Given the description of an element on the screen output the (x, y) to click on. 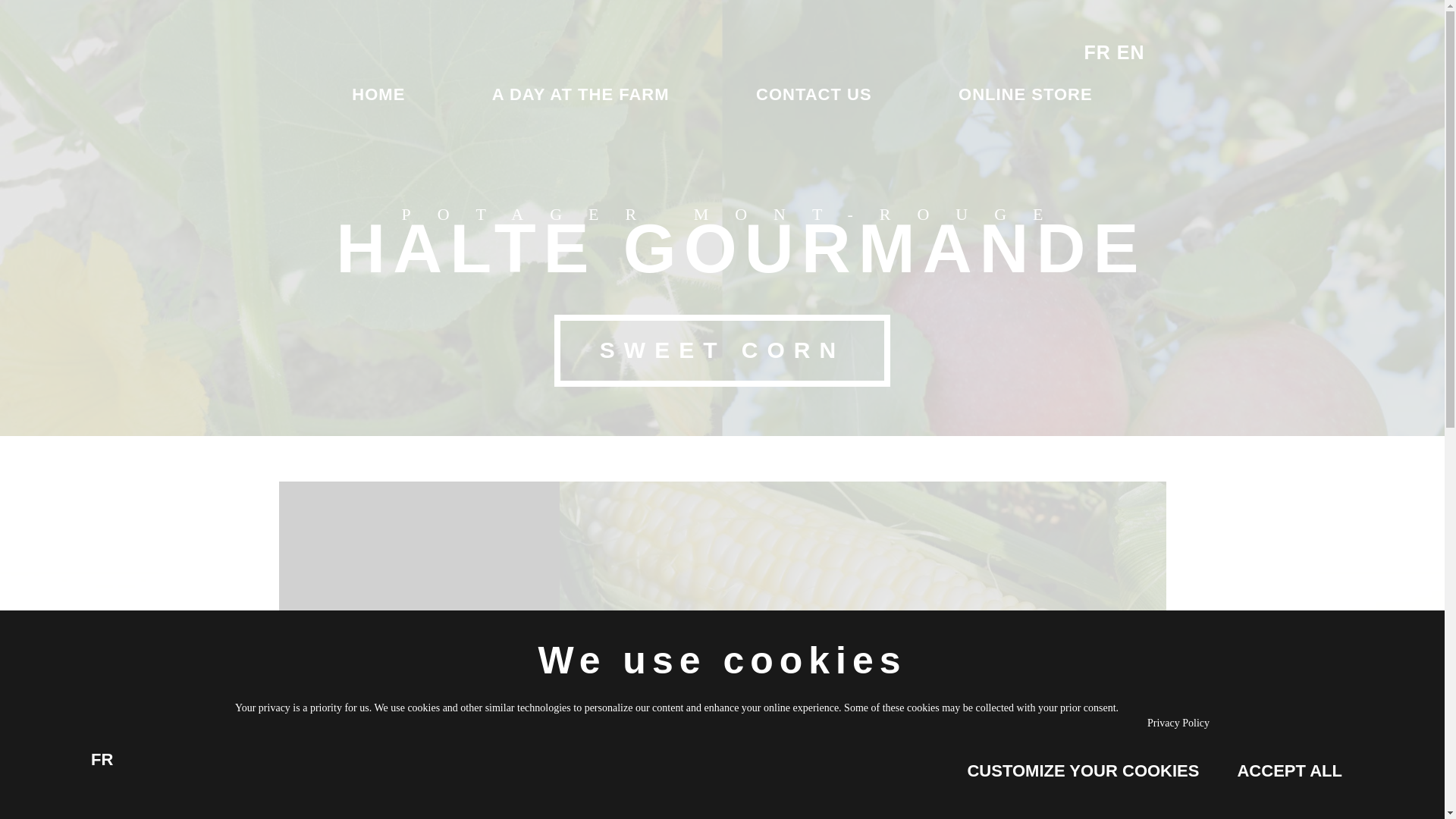
CUSTOMIZE YOUR COOKIES (1083, 770)
HOME (378, 94)
A DAY AT THE FARM (580, 94)
ONLINE STORE (1025, 94)
ACCEPT ALL (1288, 770)
HALTE GOURMANDE (740, 248)
CONTACT US (813, 94)
